Given the description of an element on the screen output the (x, y) to click on. 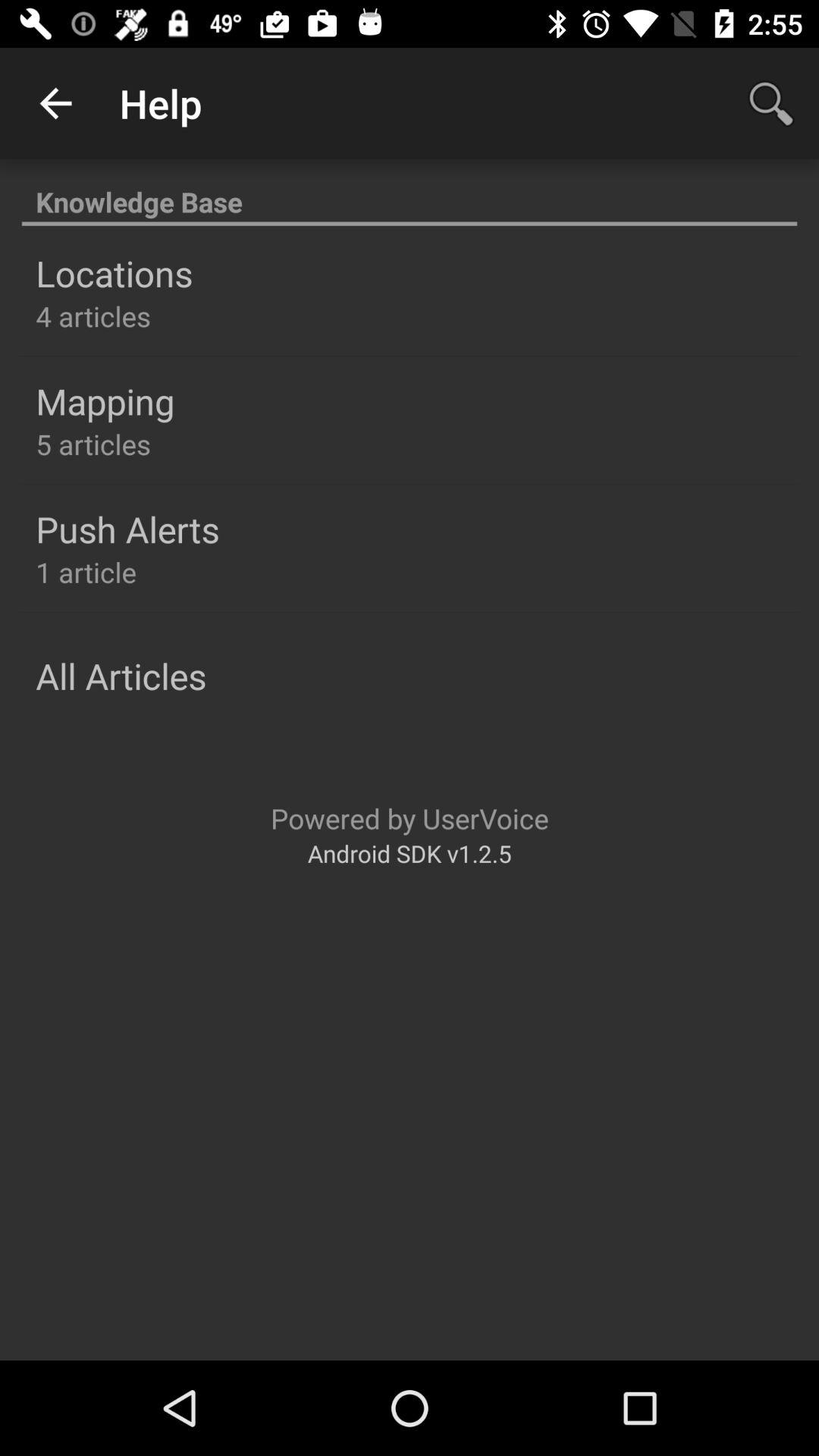
flip until locations item (113, 273)
